Given the description of an element on the screen output the (x, y) to click on. 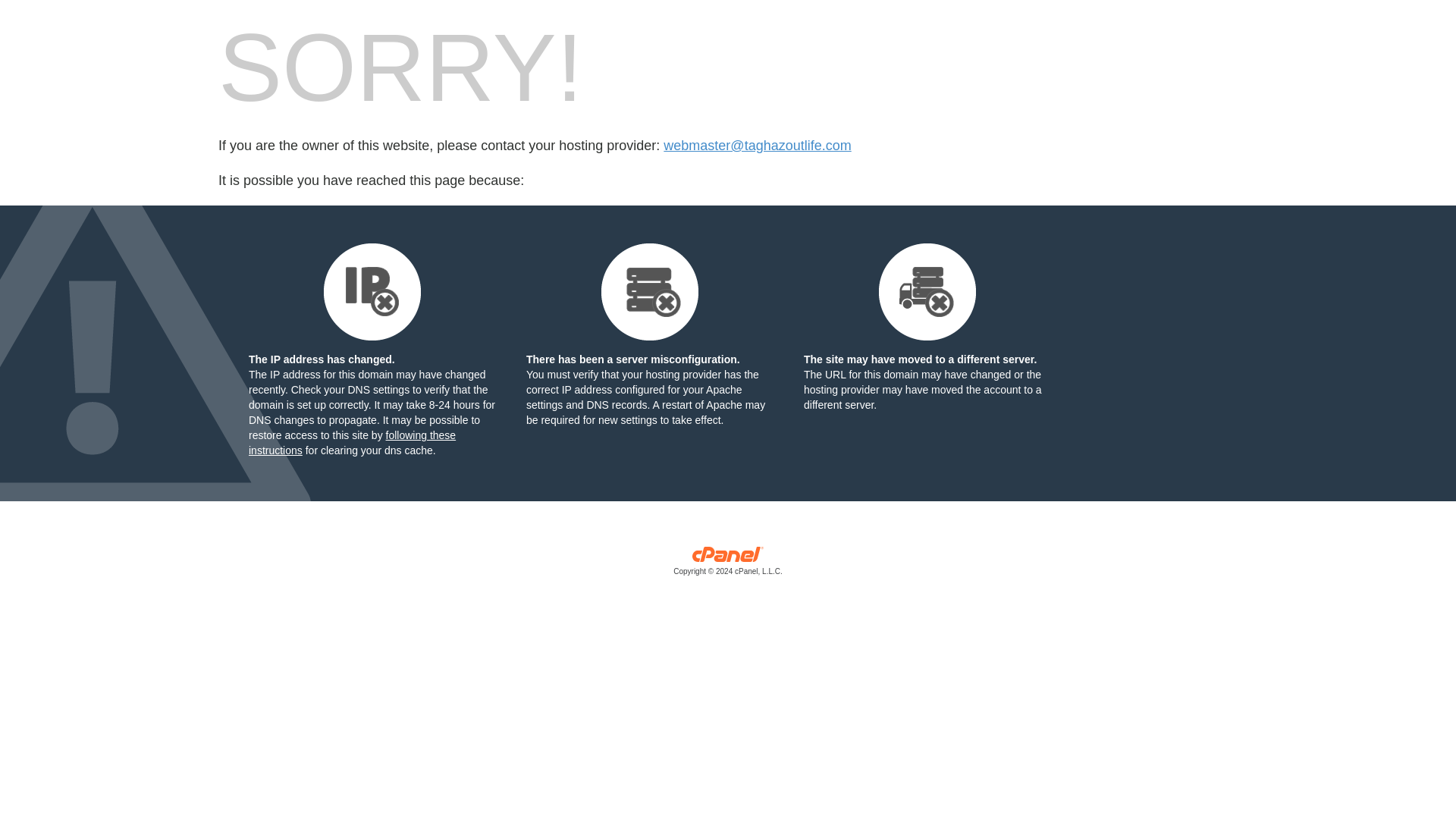
following these instructions (351, 442)
cPanel, L.L.C. (727, 564)
Click this link to contact the host (756, 145)
